Given the description of an element on the screen output the (x, y) to click on. 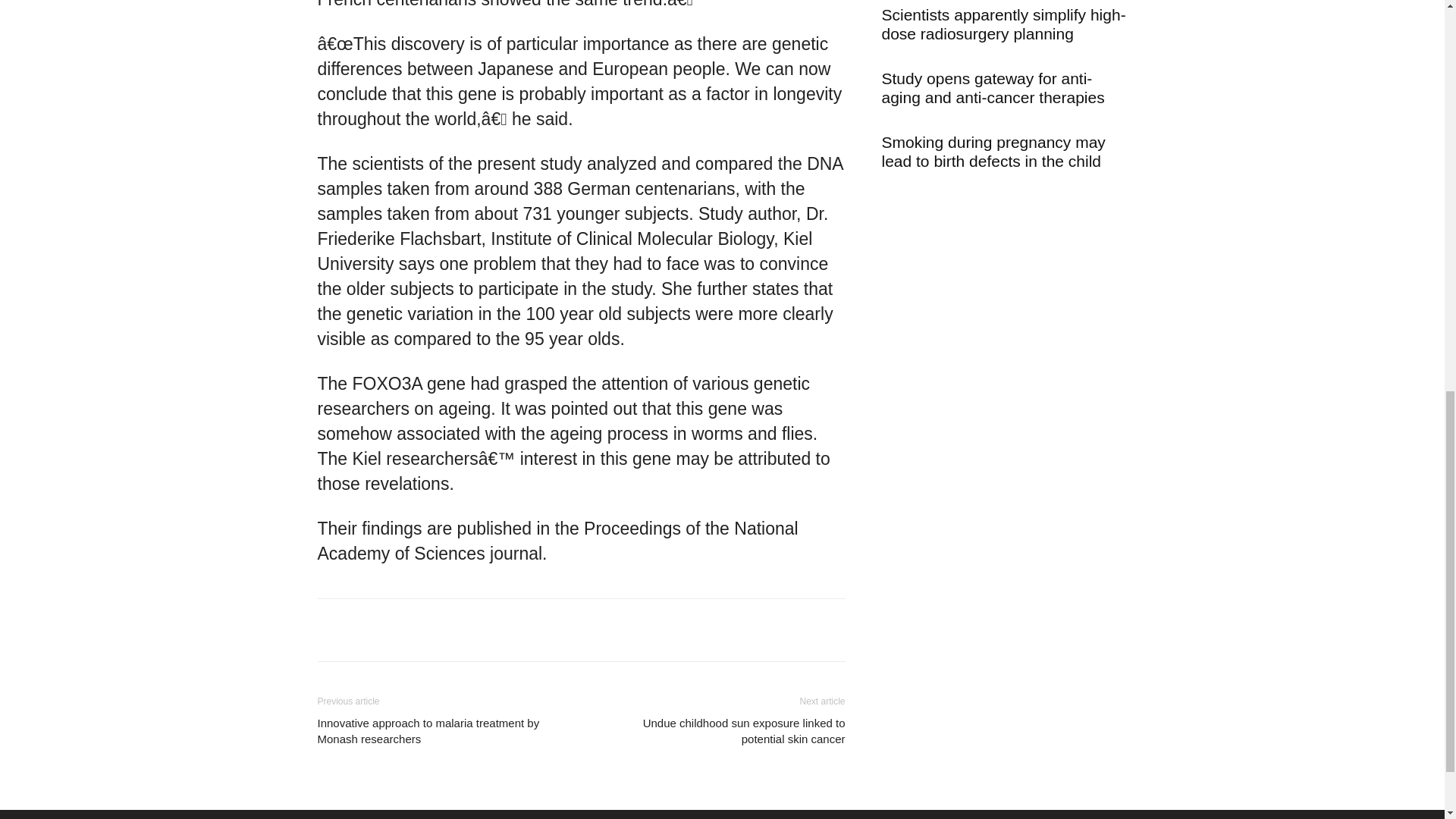
Study opens gateway for anti-aging and anti-cancer therapies (991, 87)
